Given the description of an element on the screen output the (x, y) to click on. 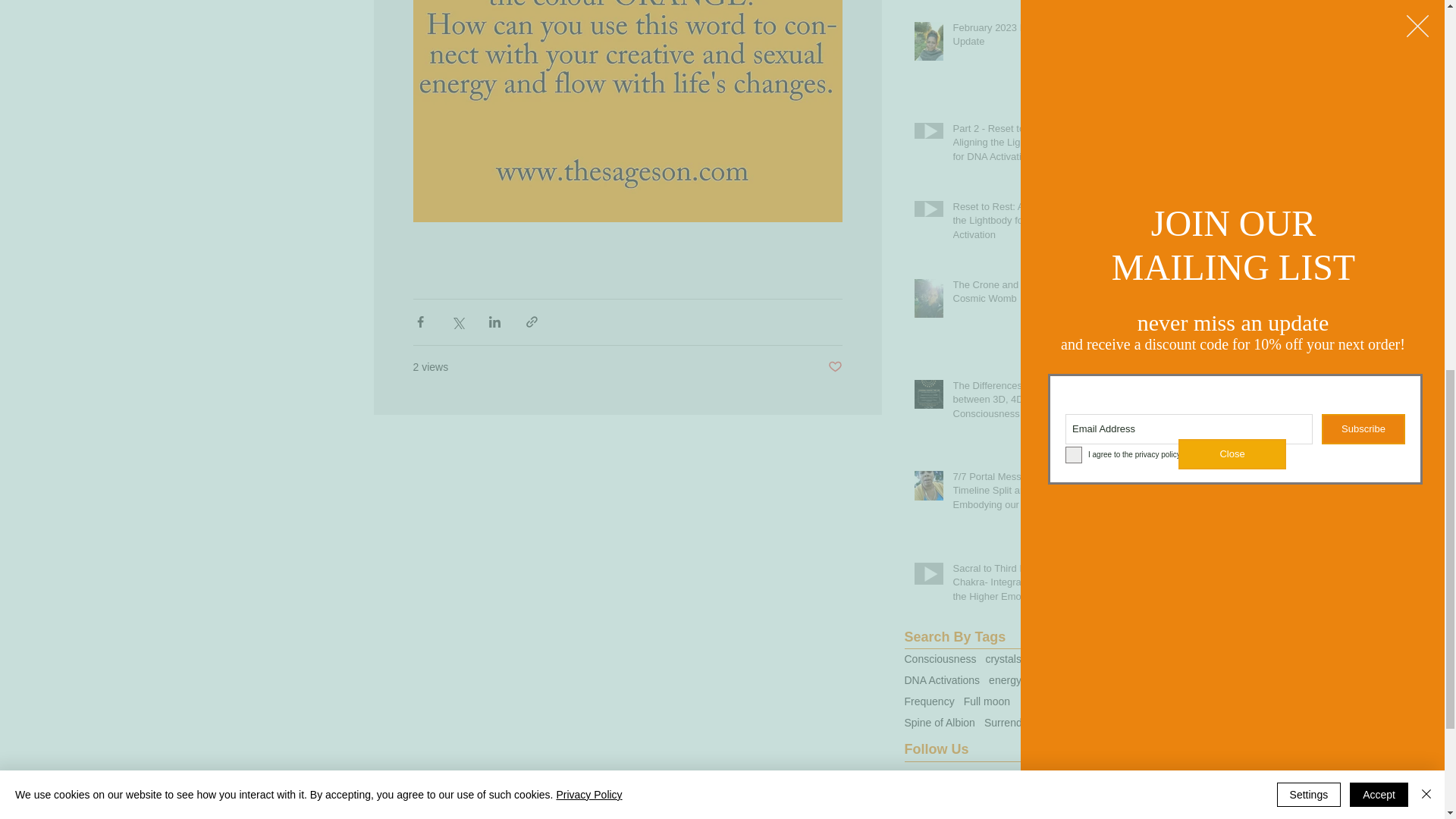
Post not marked as liked (835, 367)
